Given the description of an element on the screen output the (x, y) to click on. 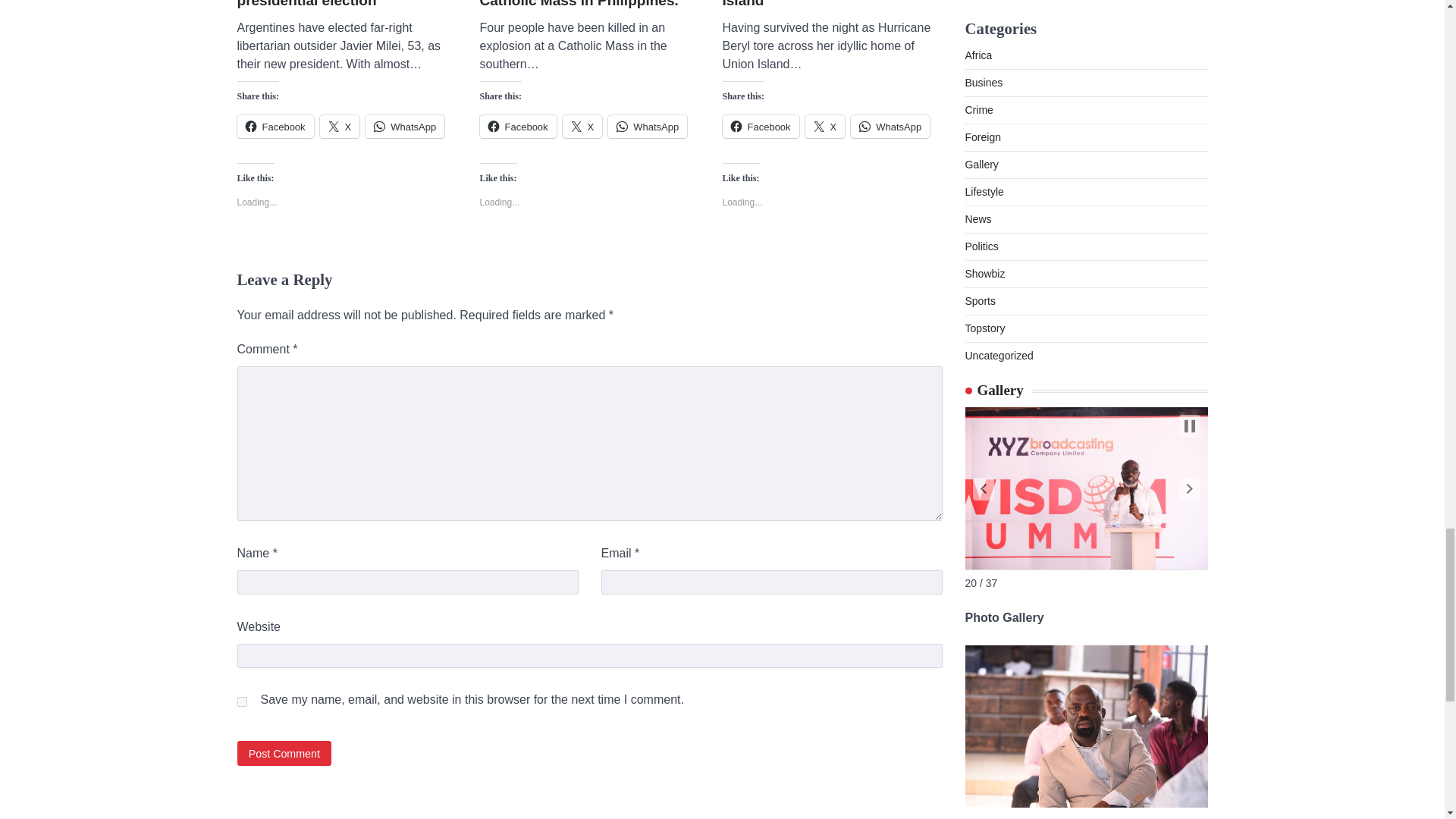
Click to share on Facebook (517, 126)
yes (240, 701)
X (339, 126)
Click to share on X (825, 126)
Click to share on WhatsApp (404, 126)
Click to share on X (582, 126)
Click to share on Facebook (759, 126)
Click to share on X (339, 126)
X (582, 126)
Post Comment (283, 753)
WhatsApp (647, 126)
Click to share on Facebook (274, 126)
Four killed in explosion at Catholic Mass in Philippines. (588, 5)
WhatsApp (404, 126)
Click to share on WhatsApp (647, 126)
